Given the description of an element on the screen output the (x, y) to click on. 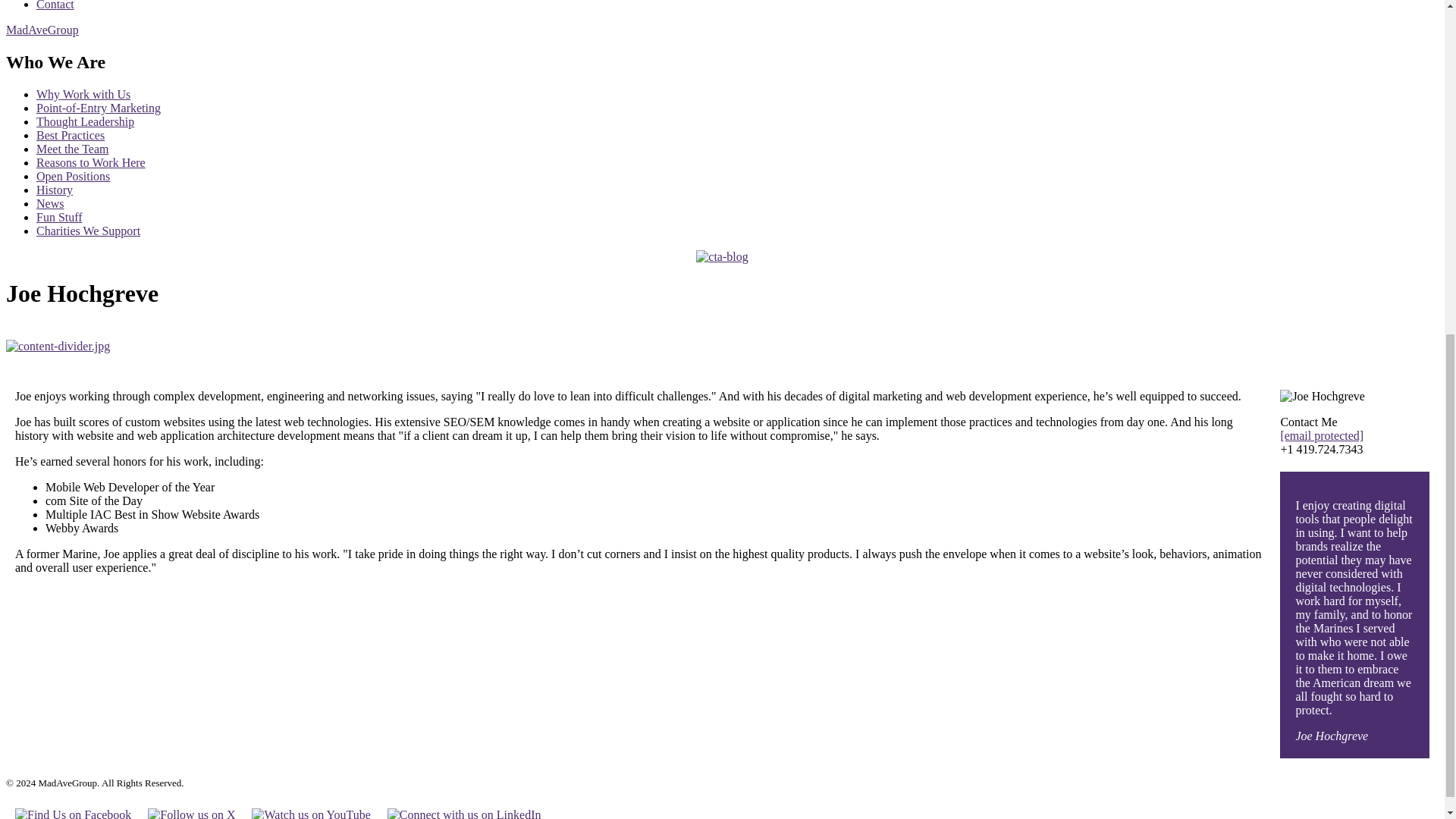
MadAveGroup (41, 29)
Contact (55, 5)
Sign Up for our Blog (721, 256)
Thought Leadership (84, 121)
Why Work with Us (83, 93)
Joe Hochgreve (1322, 396)
Sign Up for our Free Marketing Newsletter (721, 256)
Best Practices (70, 134)
MadAveGroup (41, 29)
Point-of-Entry Marketing (98, 107)
